Given the description of an element on the screen output the (x, y) to click on. 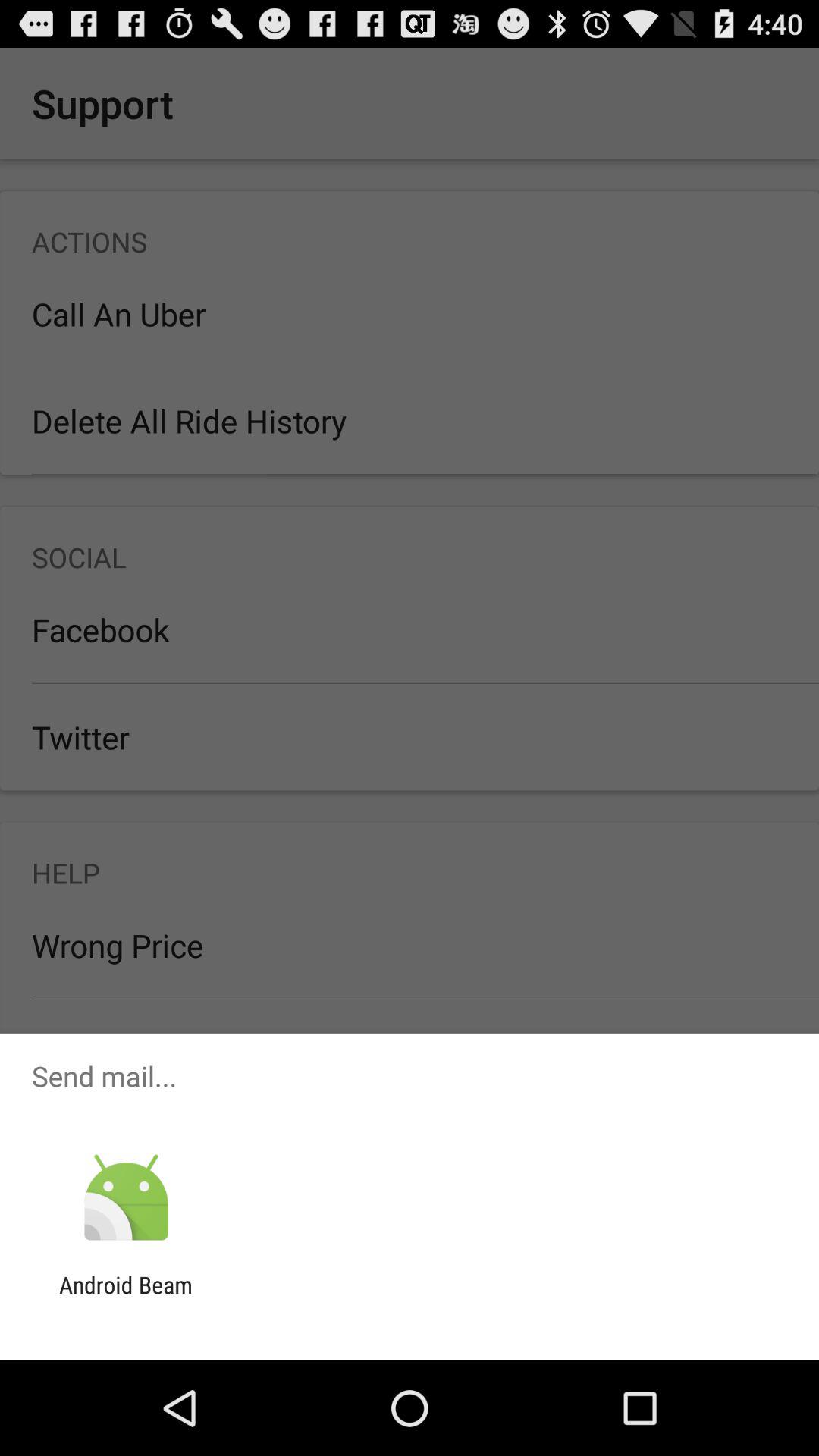
select the icon below the send mail... (126, 1198)
